Given the description of an element on the screen output the (x, y) to click on. 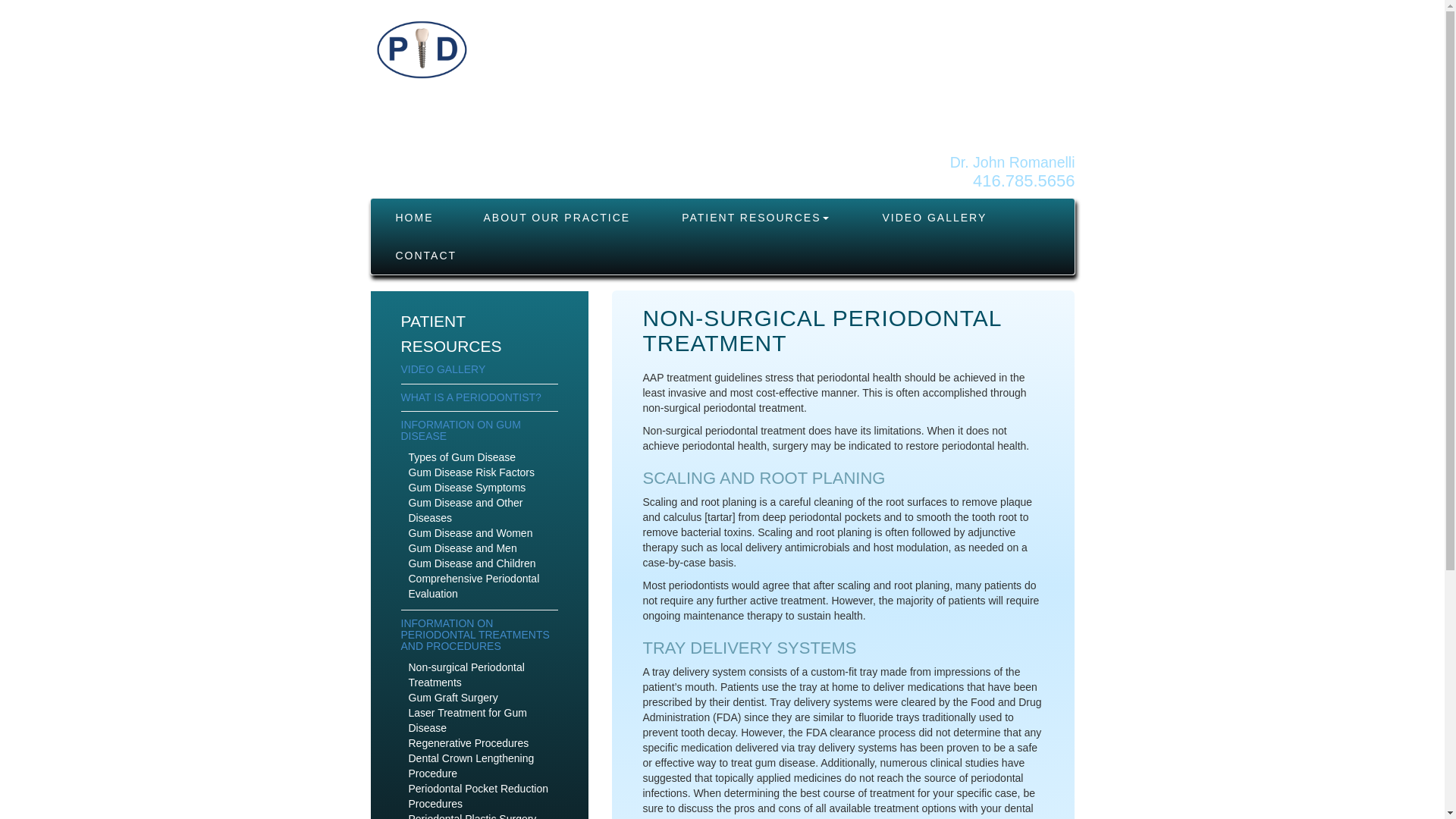
ABOUT OUR PRACTICE (556, 217)
PATIENT RESOURCES (755, 217)
HOME (414, 217)
416.785.5656 (1023, 180)
